Given the description of an element on the screen output the (x, y) to click on. 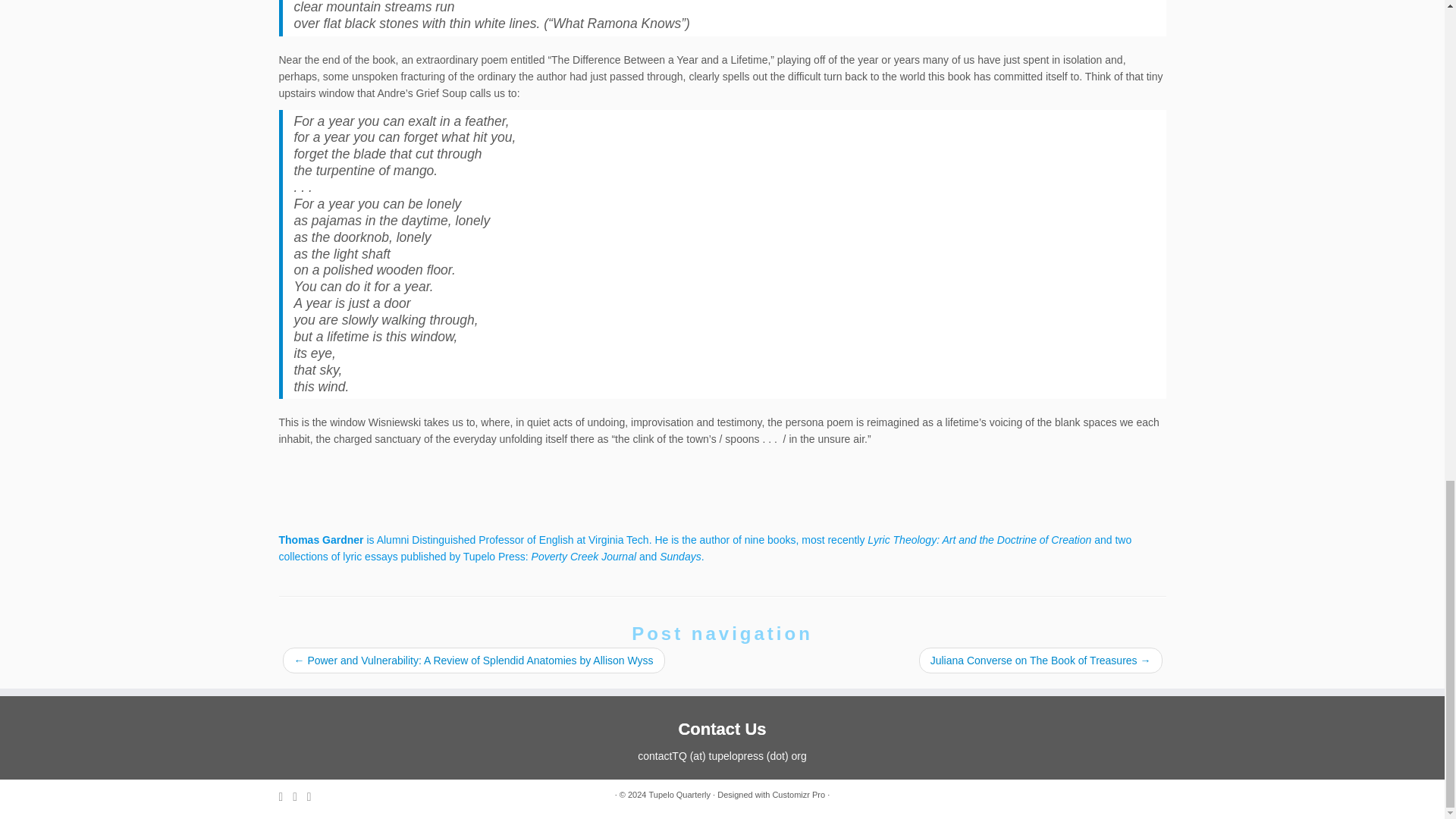
Customizr Pro (798, 795)
Subscribe to my rss feed (286, 796)
Follow me on Facebook (314, 796)
Follow me on Twitter (299, 796)
Tupelo Quarterly (680, 795)
